Given the description of an element on the screen output the (x, y) to click on. 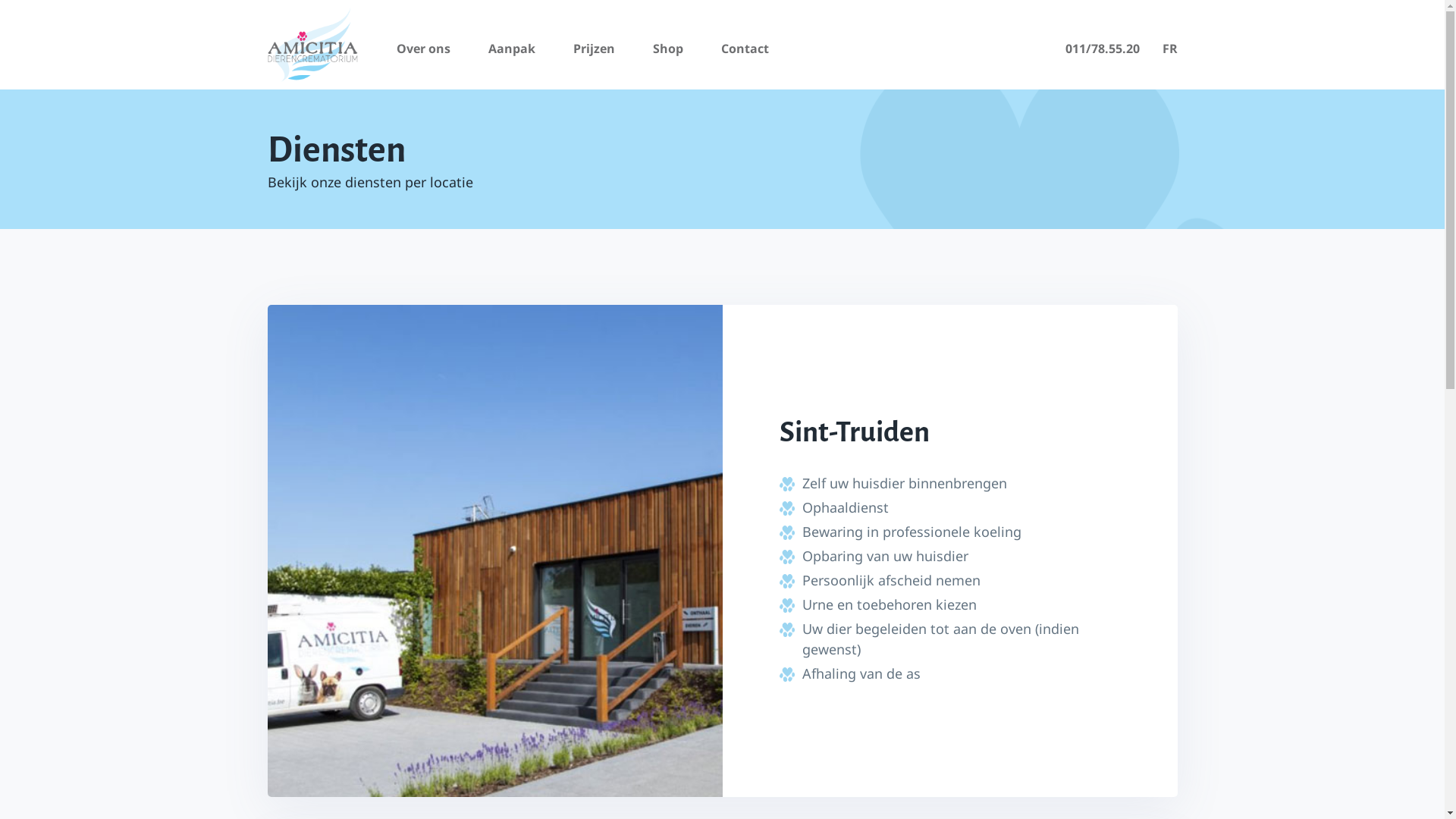
011/78.55.20 Element type: text (1101, 48)
Over ons Element type: text (422, 48)
Contact Element type: text (744, 48)
Amicitia dierencrematorium Element type: text (311, 44)
Aanpak Element type: text (511, 48)
Shop Element type: text (667, 48)
FR Element type: text (1168, 48)
Prijzen Element type: text (594, 48)
